Given the description of an element on the screen output the (x, y) to click on. 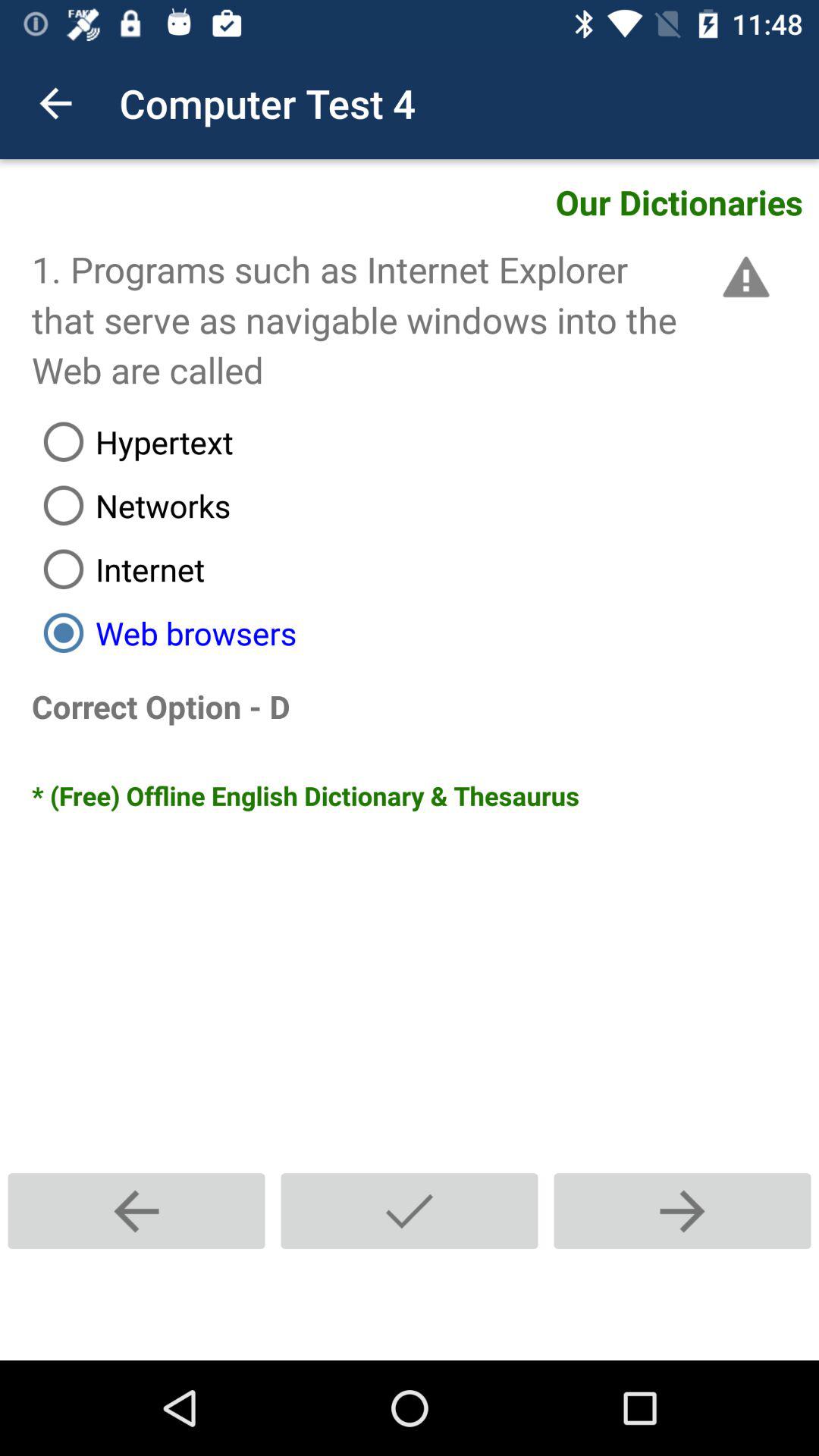
go back (136, 1210)
